Given the description of an element on the screen output the (x, y) to click on. 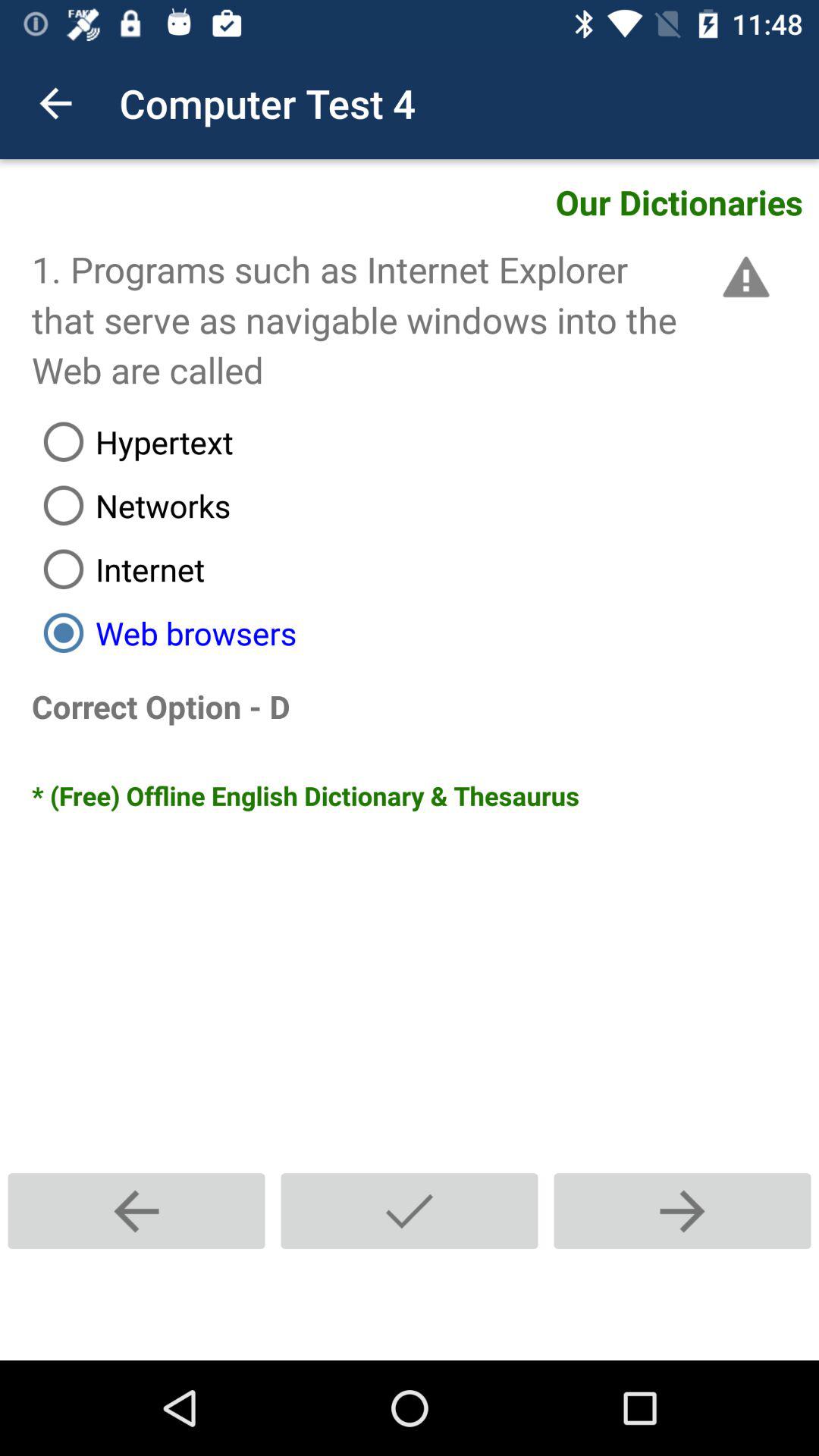
go back (136, 1210)
